Given the description of an element on the screen output the (x, y) to click on. 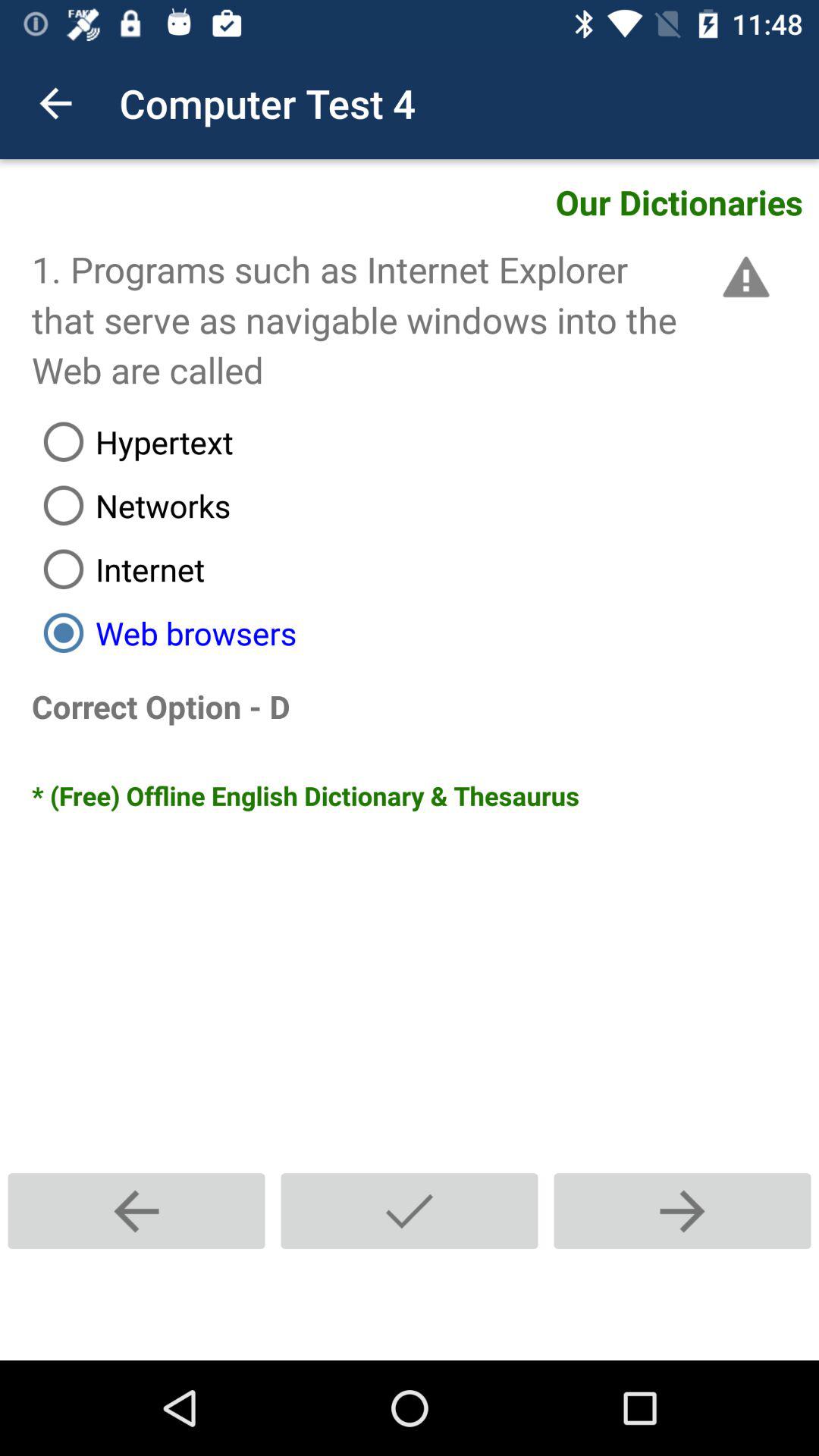
go back (136, 1210)
